Given the description of an element on the screen output the (x, y) to click on. 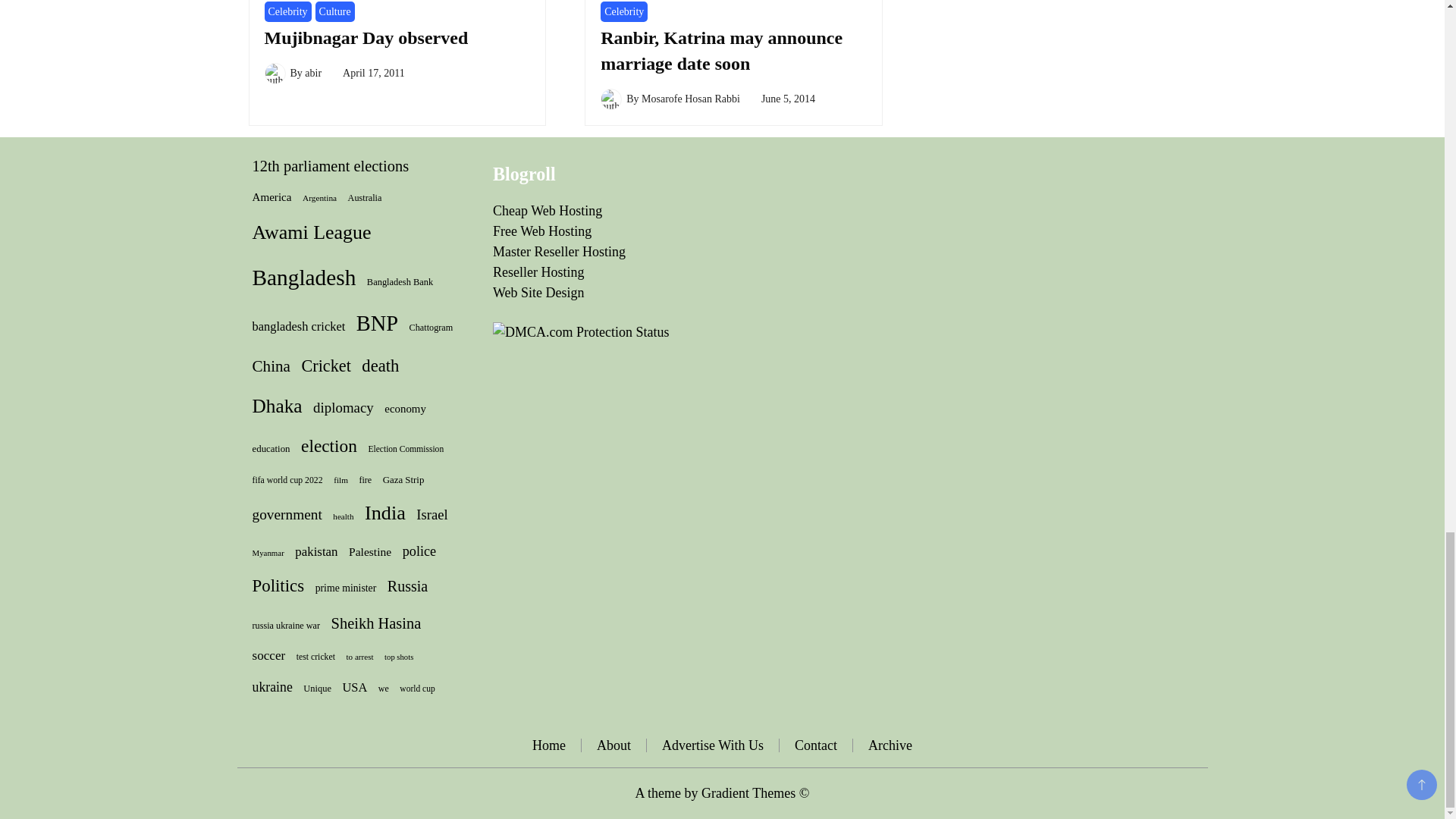
Master Reseller Hosting (559, 251)
Reseller Hosting (538, 272)
Cheap Web Hosting (547, 210)
DMCA.com Protection Program (581, 331)
Web Site Design (539, 292)
